Given the description of an element on the screen output the (x, y) to click on. 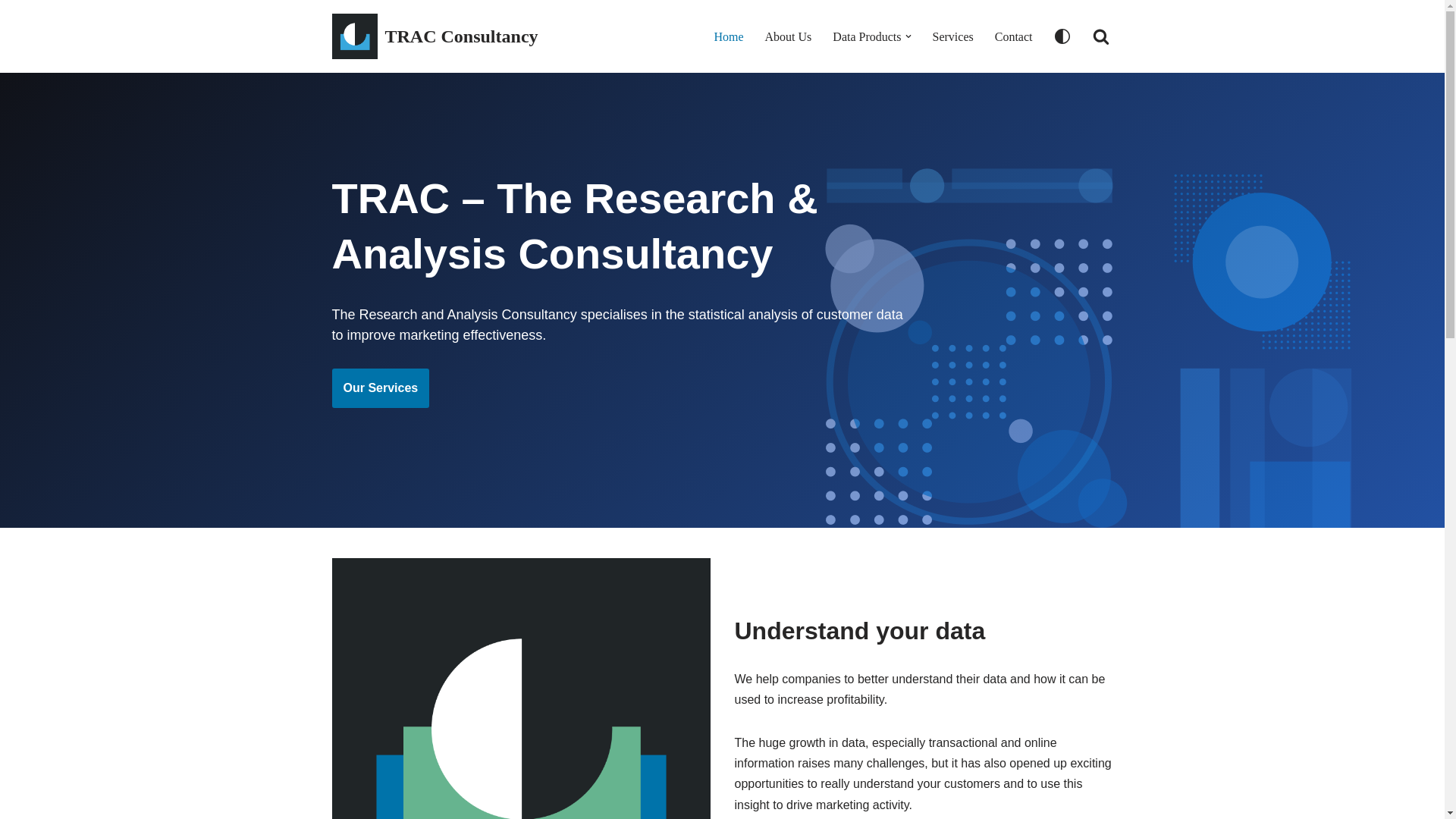
Data Products (866, 36)
Services (953, 36)
Contact (1013, 36)
Our Services (380, 387)
TRAC Consultancy (434, 35)
Skip to content (11, 31)
Home (727, 36)
About Us (788, 36)
